Given the description of an element on the screen output the (x, y) to click on. 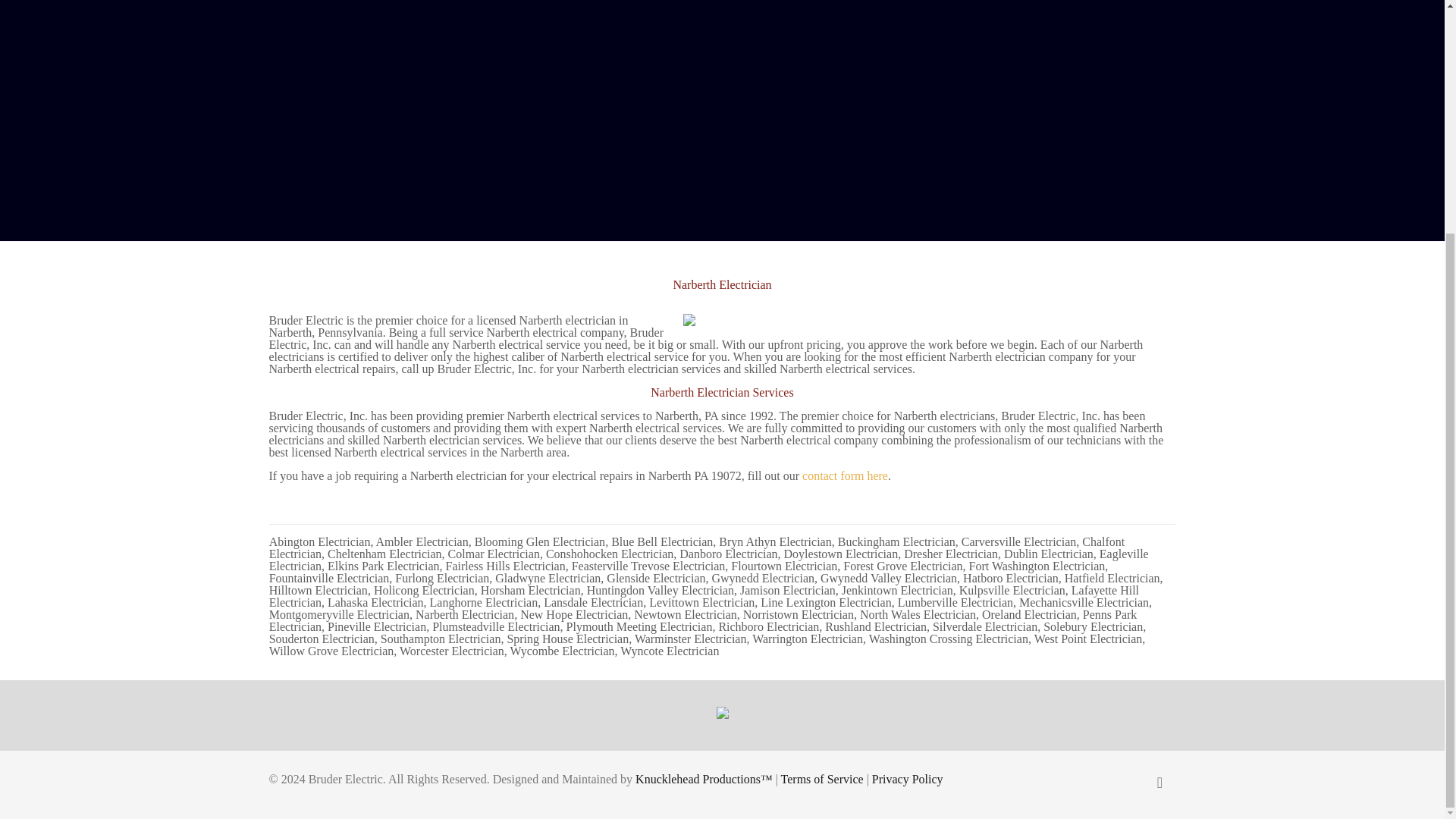
Buckingham Electrician (896, 541)
Fort Washington Electrician (1037, 565)
Doylestown Electrician (841, 553)
Dublin Electrician (1048, 553)
Cheltenham Electrician (384, 553)
Furlong Electrician (441, 577)
Blue Bell Electrician (662, 541)
Forest Grove Electrician (902, 565)
Abington Electrician (320, 541)
Bryn Athyn Electrician (775, 541)
Facebook (1074, 779)
Danboro Electrician (728, 553)
Instagram (1123, 779)
LinkedIn (1106, 779)
Conshohocken Electrician (609, 553)
